Given the description of an element on the screen output the (x, y) to click on. 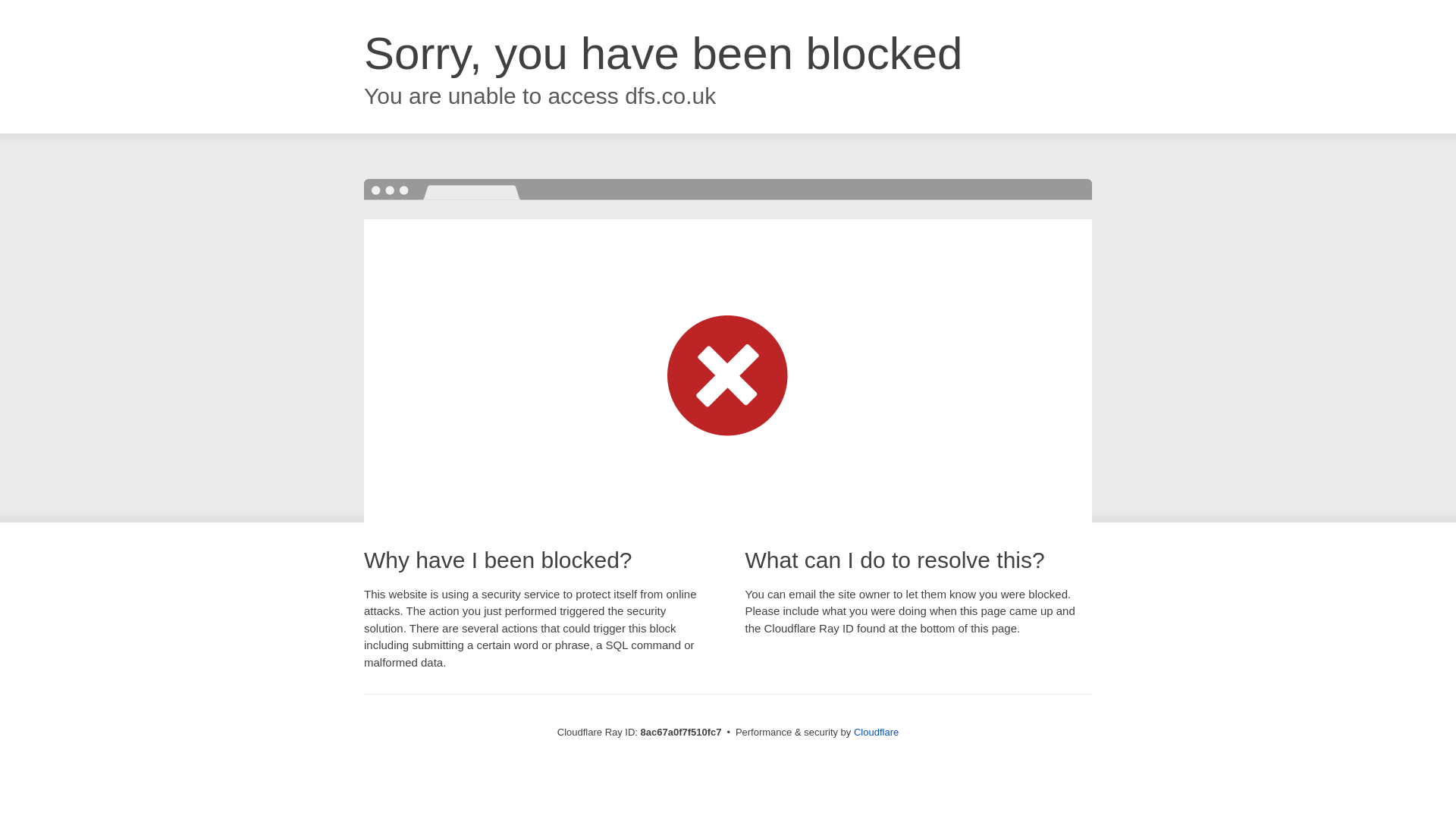
Cloudflare (875, 731)
